Given the description of an element on the screen output the (x, y) to click on. 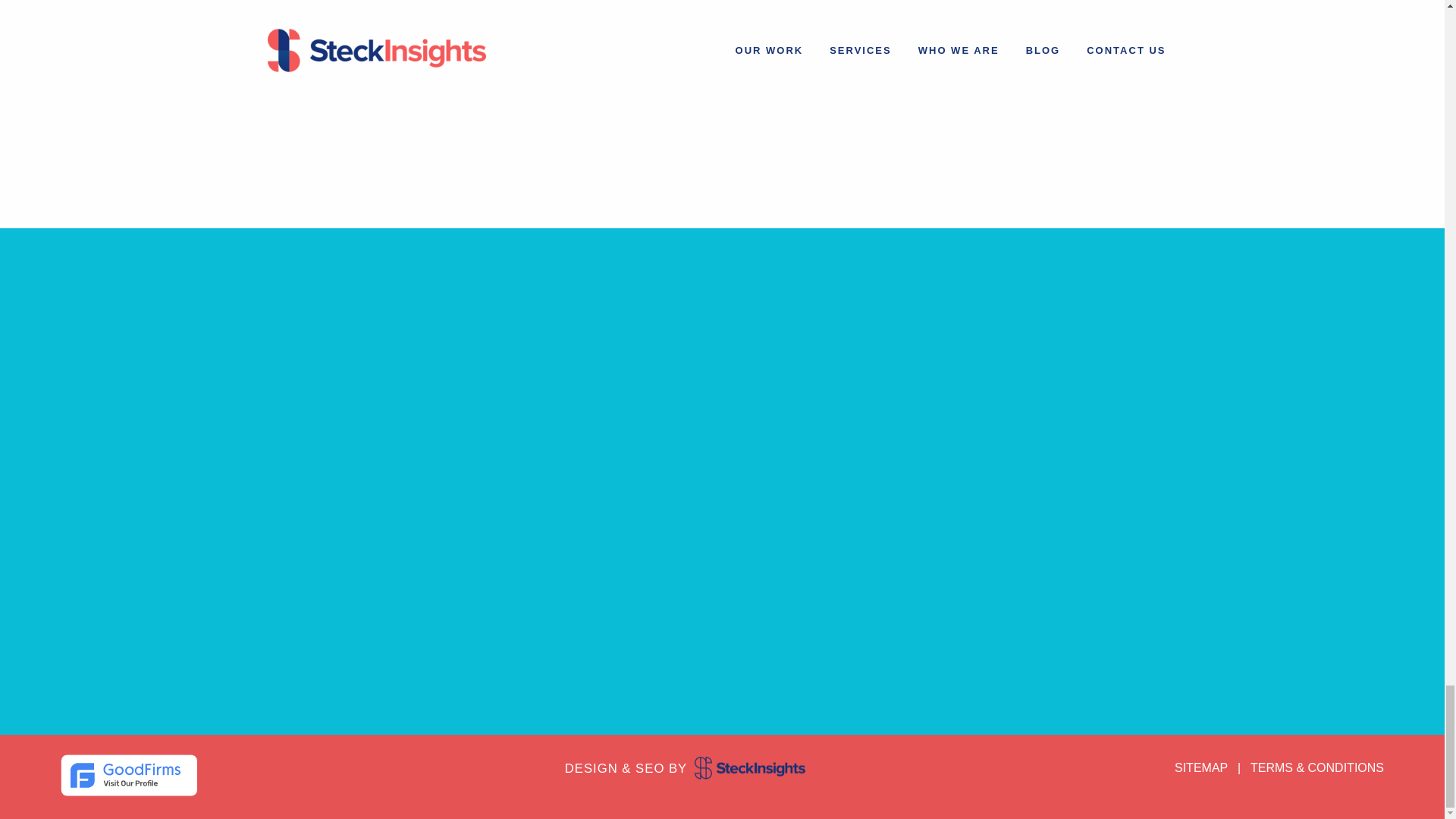
Web Development Company (128, 775)
